Given the description of an element on the screen output the (x, y) to click on. 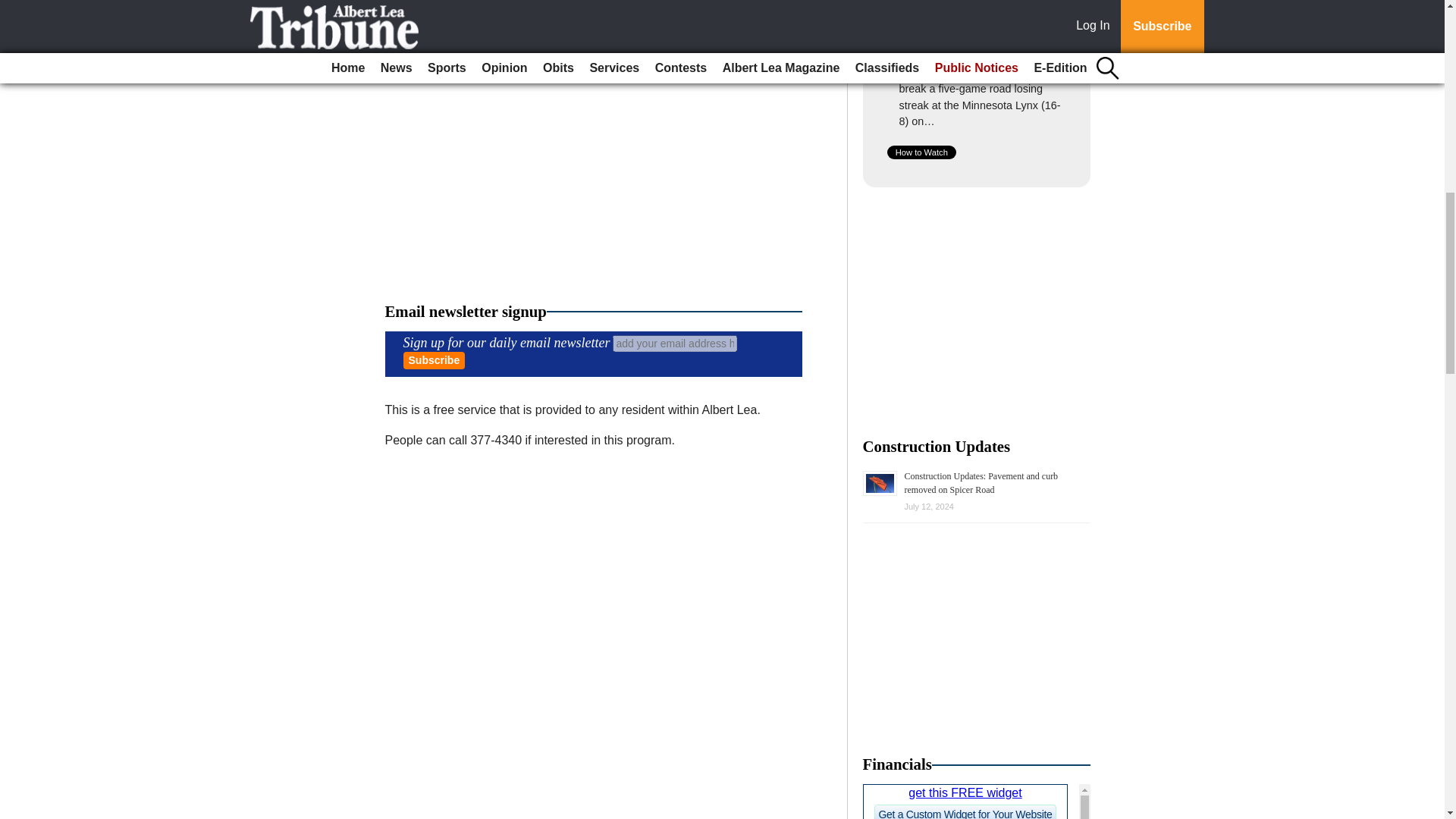
Subscribe (434, 360)
US Market Update (976, 801)
